Given the description of an element on the screen output the (x, y) to click on. 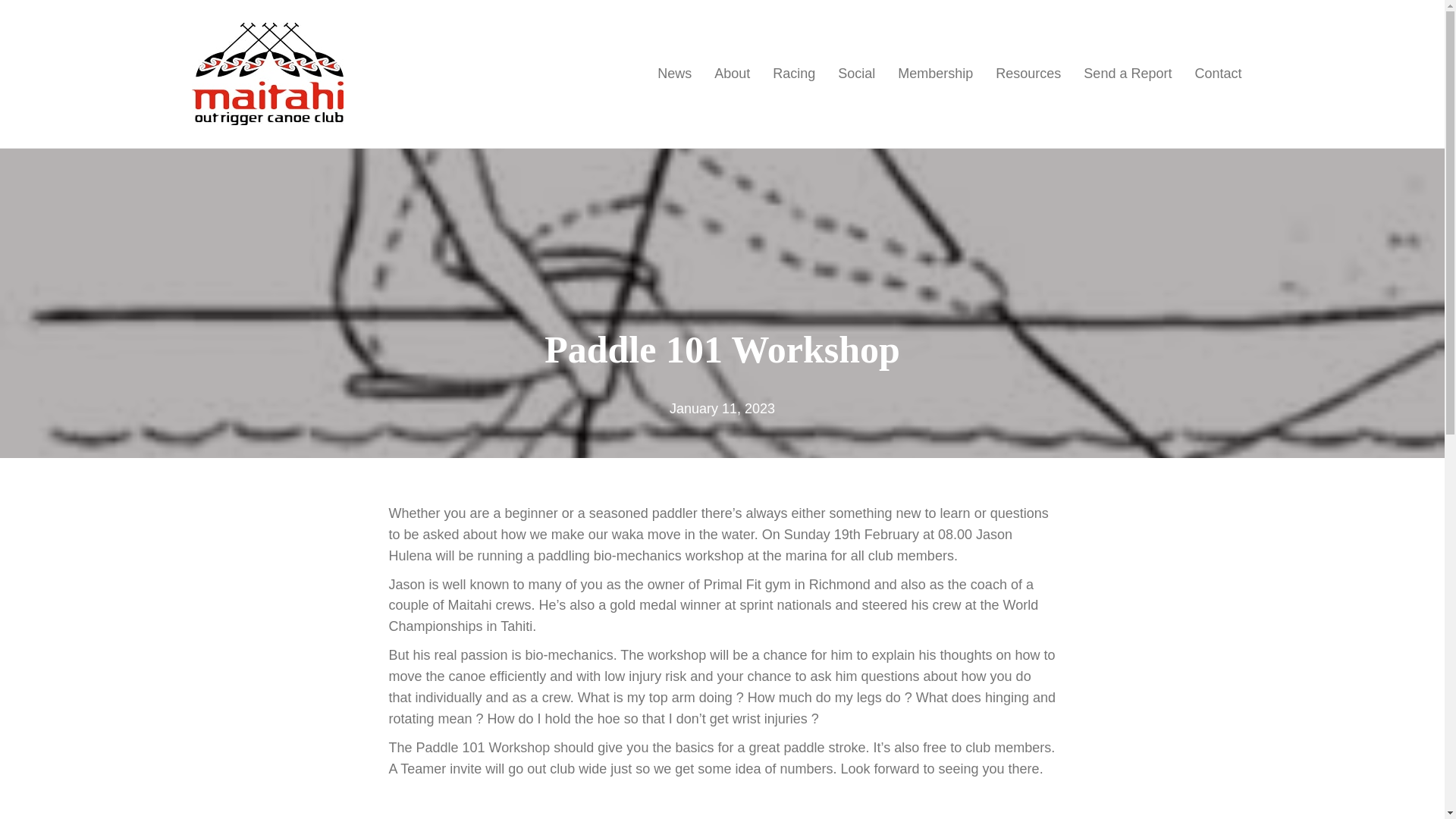
Social (856, 74)
About (732, 74)
Racing (794, 74)
News (674, 74)
